Given the description of an element on the screen output the (x, y) to click on. 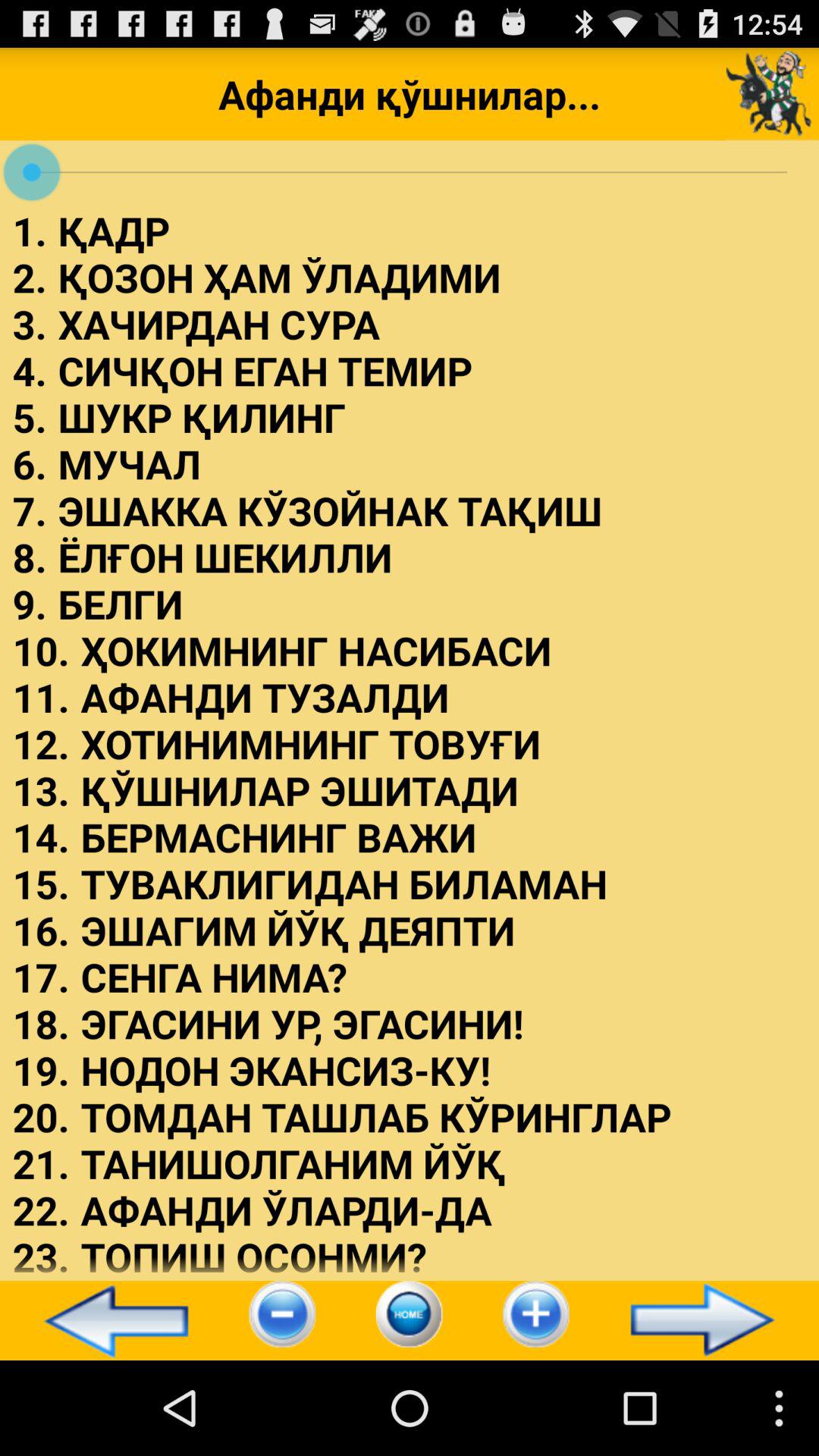
open icon at the bottom left corner (109, 1320)
